Given the description of an element on the screen output the (x, y) to click on. 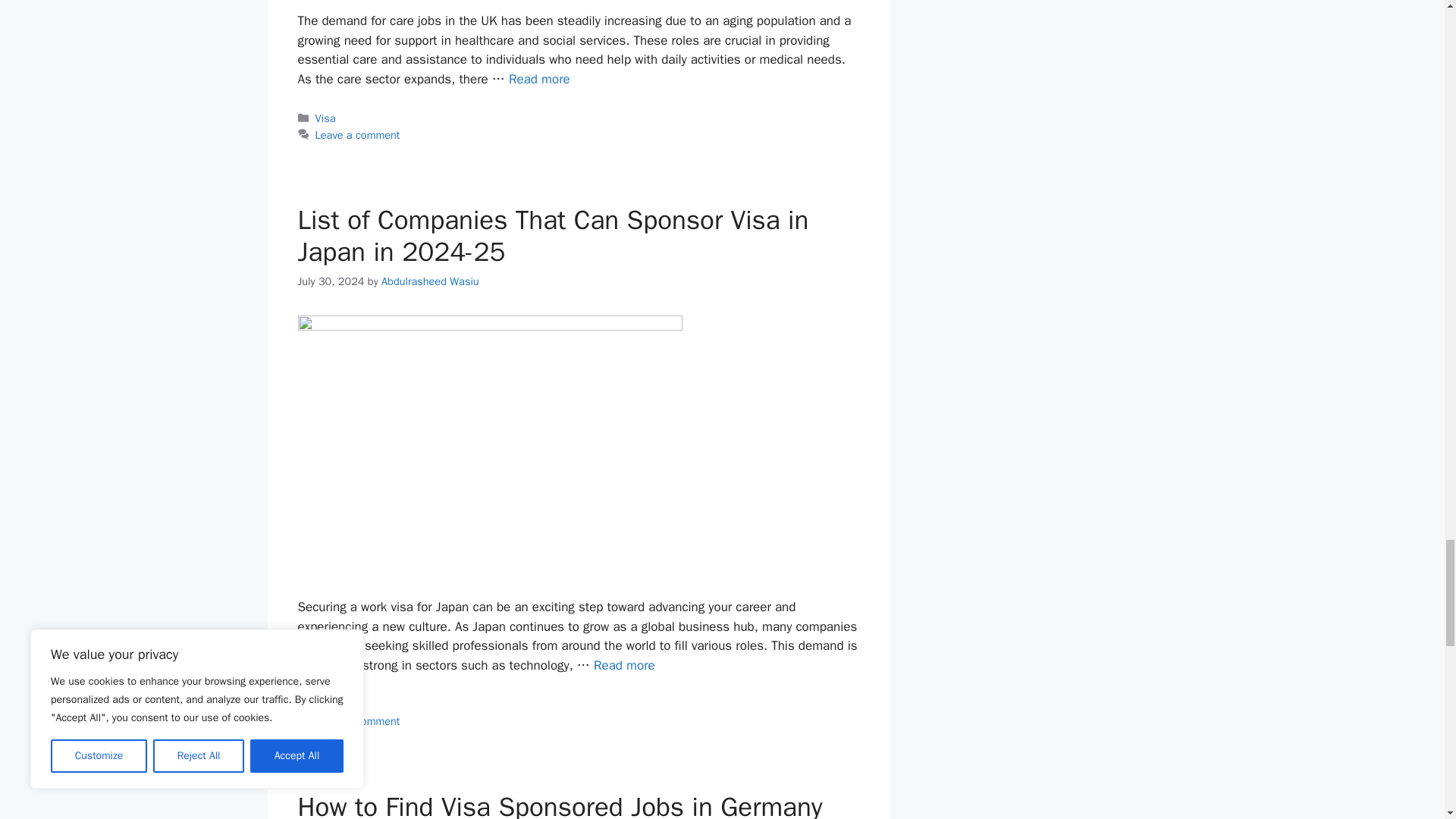
View all posts by Abdulrasheed Wasiu (430, 281)
List of Companies That Can Sponsor Visa in Japan in 2024-25 (624, 665)
How to Find UK Care Jobs With Visa Sponsorship (539, 78)
